Given the description of an element on the screen output the (x, y) to click on. 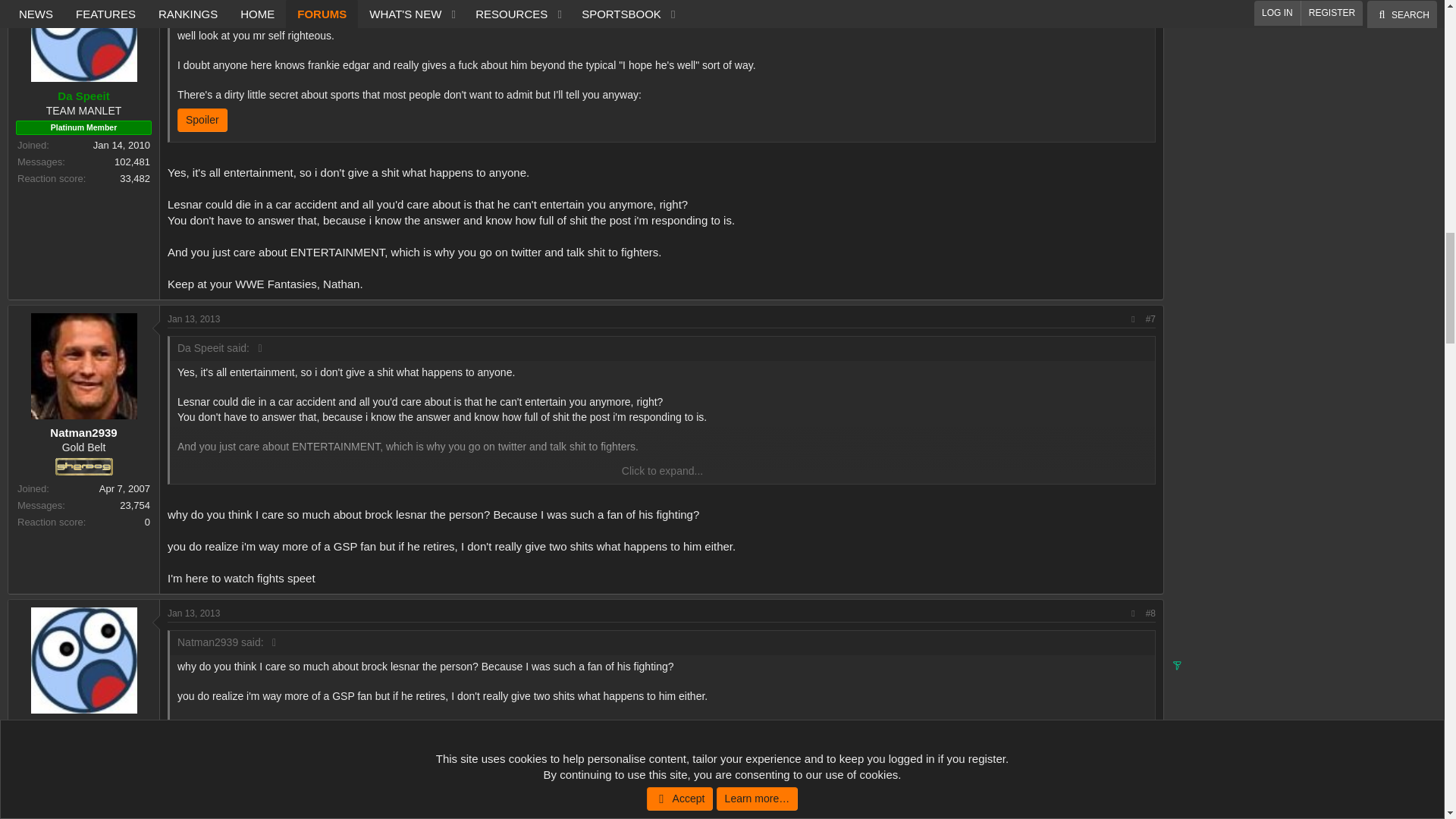
Jan 13, 2013 at 10:19 PM (193, 613)
Jan 13, 2013 at 10:17 PM (193, 318)
